Given the description of an element on the screen output the (x, y) to click on. 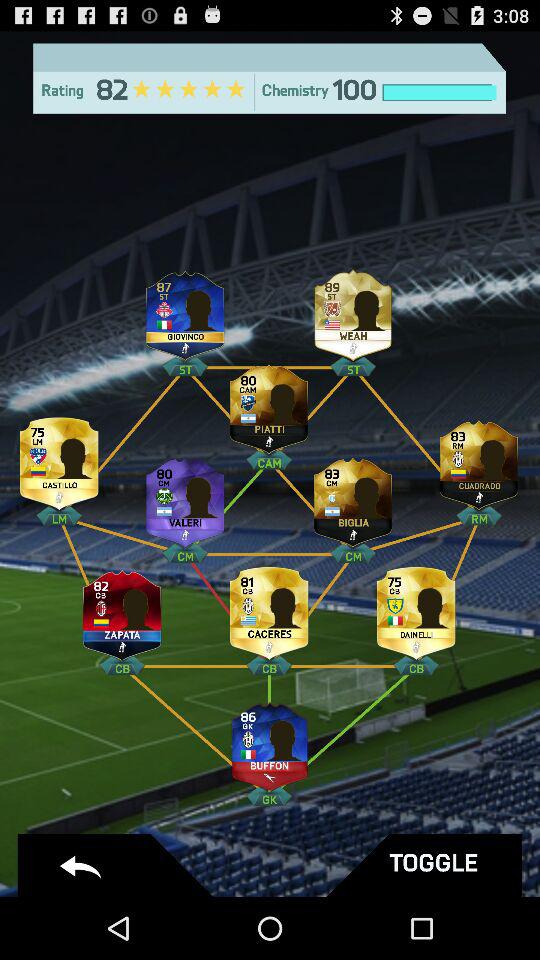
change player (185, 497)
